Given the description of an element on the screen output the (x, y) to click on. 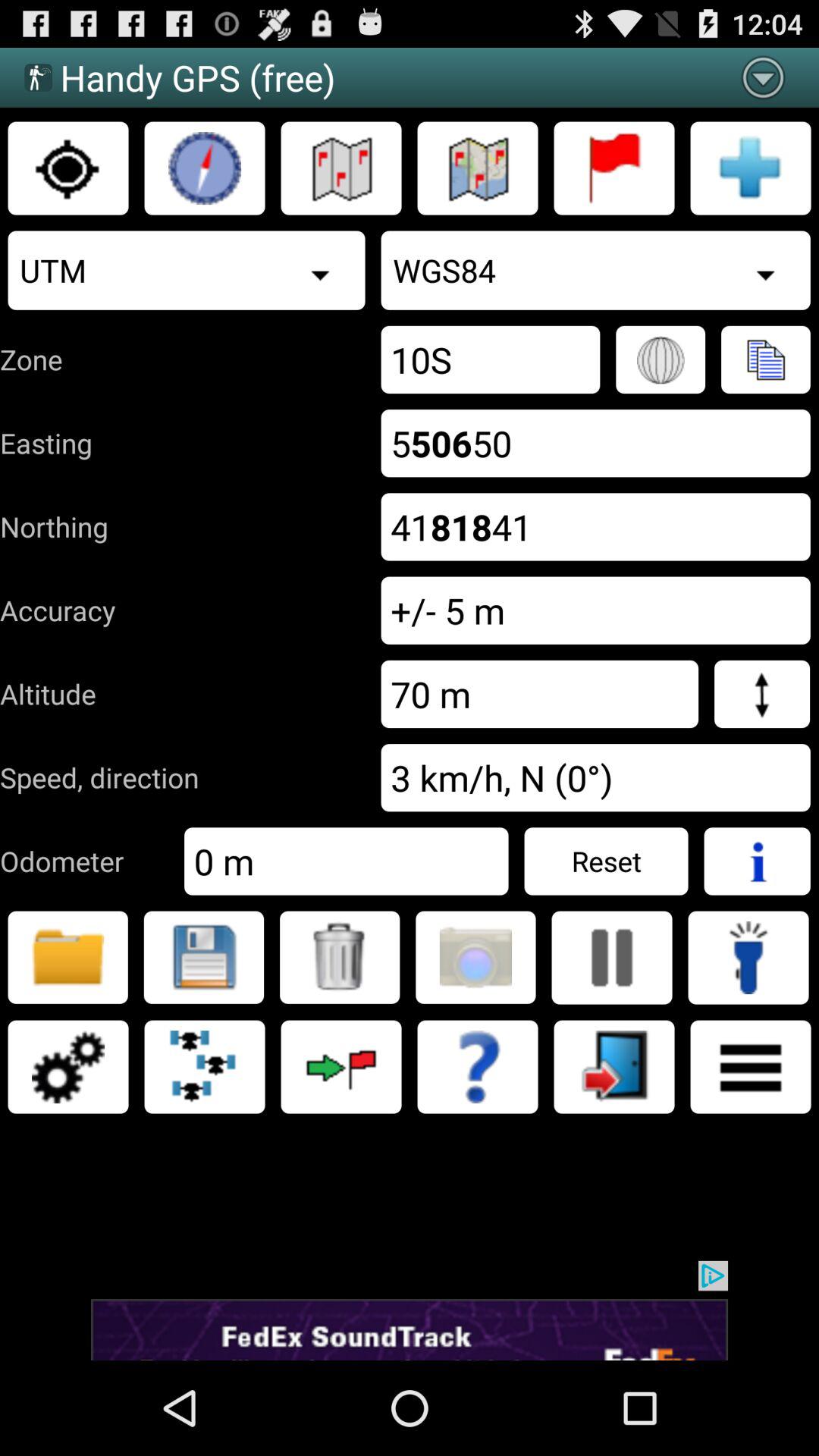
click on copy icon (765, 359)
